Given the description of an element on the screen output the (x, y) to click on. 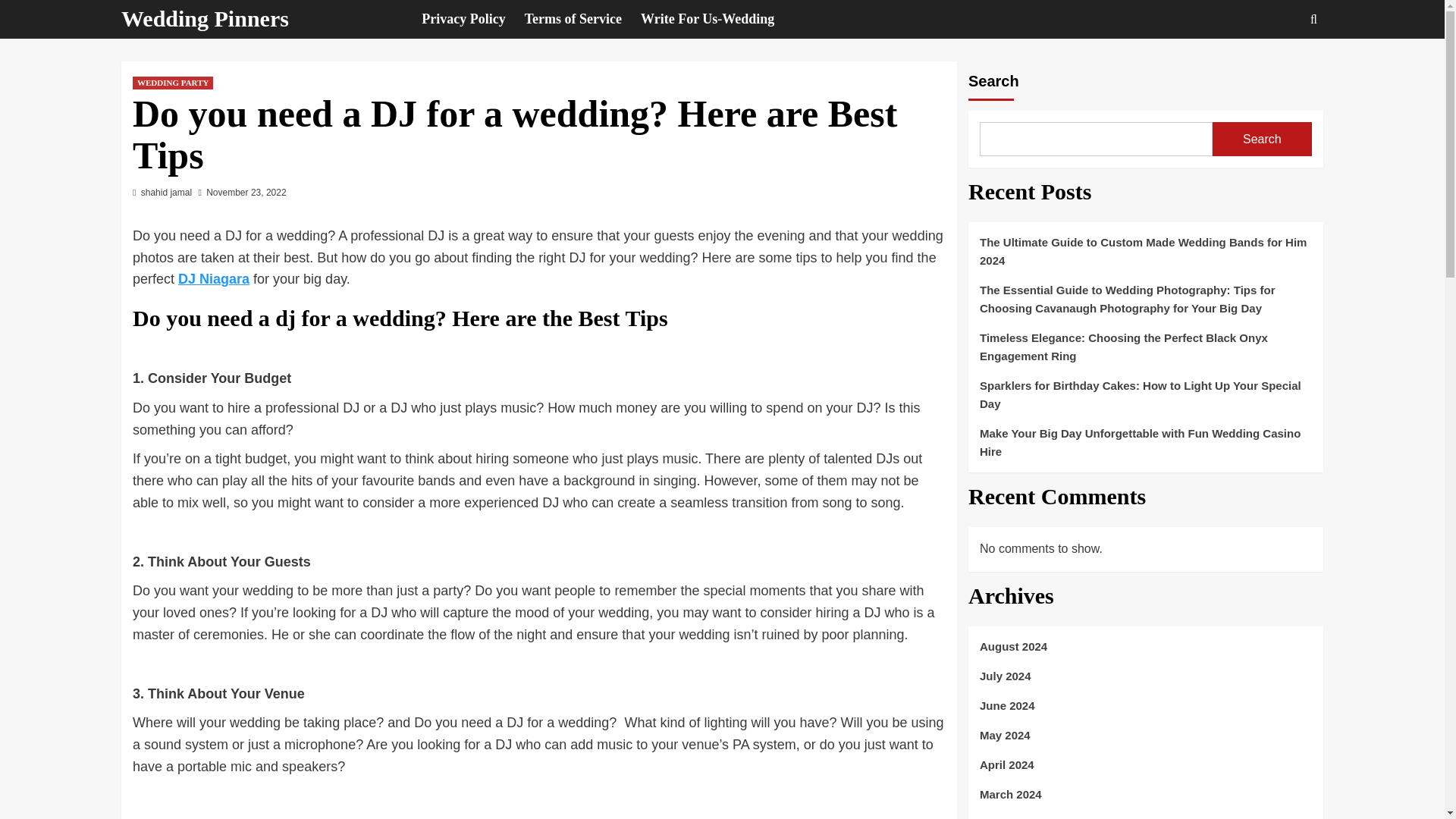
shahid jamal (166, 192)
WEDDING PARTY (172, 82)
Wedding Pinners (204, 18)
Privacy Policy (473, 19)
Search (1261, 139)
July 2024 (1145, 681)
The Ultimate Guide to Custom Made Wedding Bands for Him 2024 (1145, 257)
